Given the description of an element on the screen output the (x, y) to click on. 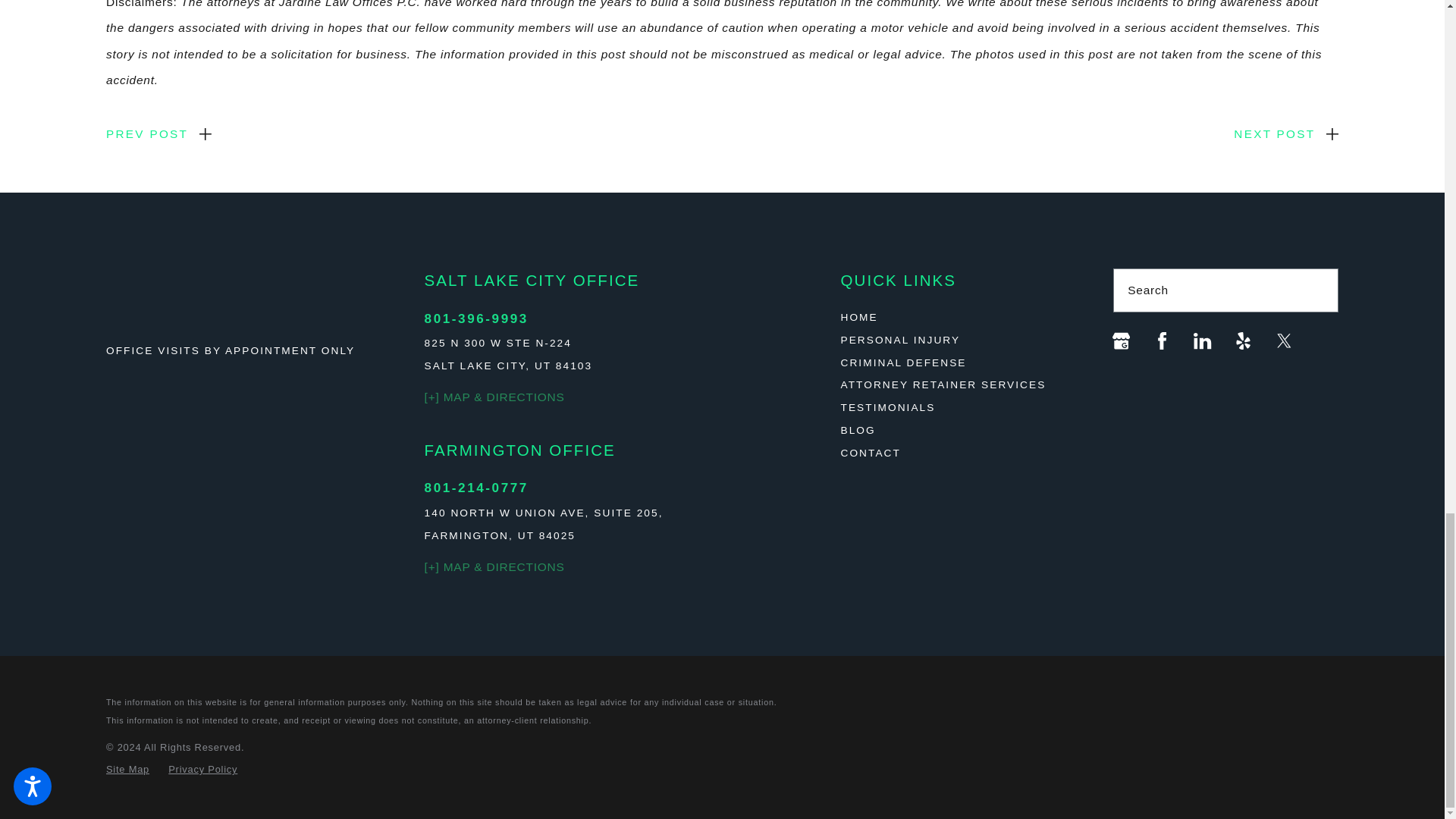
Twitter (1283, 340)
Facebook (1161, 340)
Search Our Site (1318, 289)
Google Business Profile (1120, 340)
Search Icon (1318, 290)
Yelp (1243, 340)
LinkedIn (1202, 340)
